Given the description of an element on the screen output the (x, y) to click on. 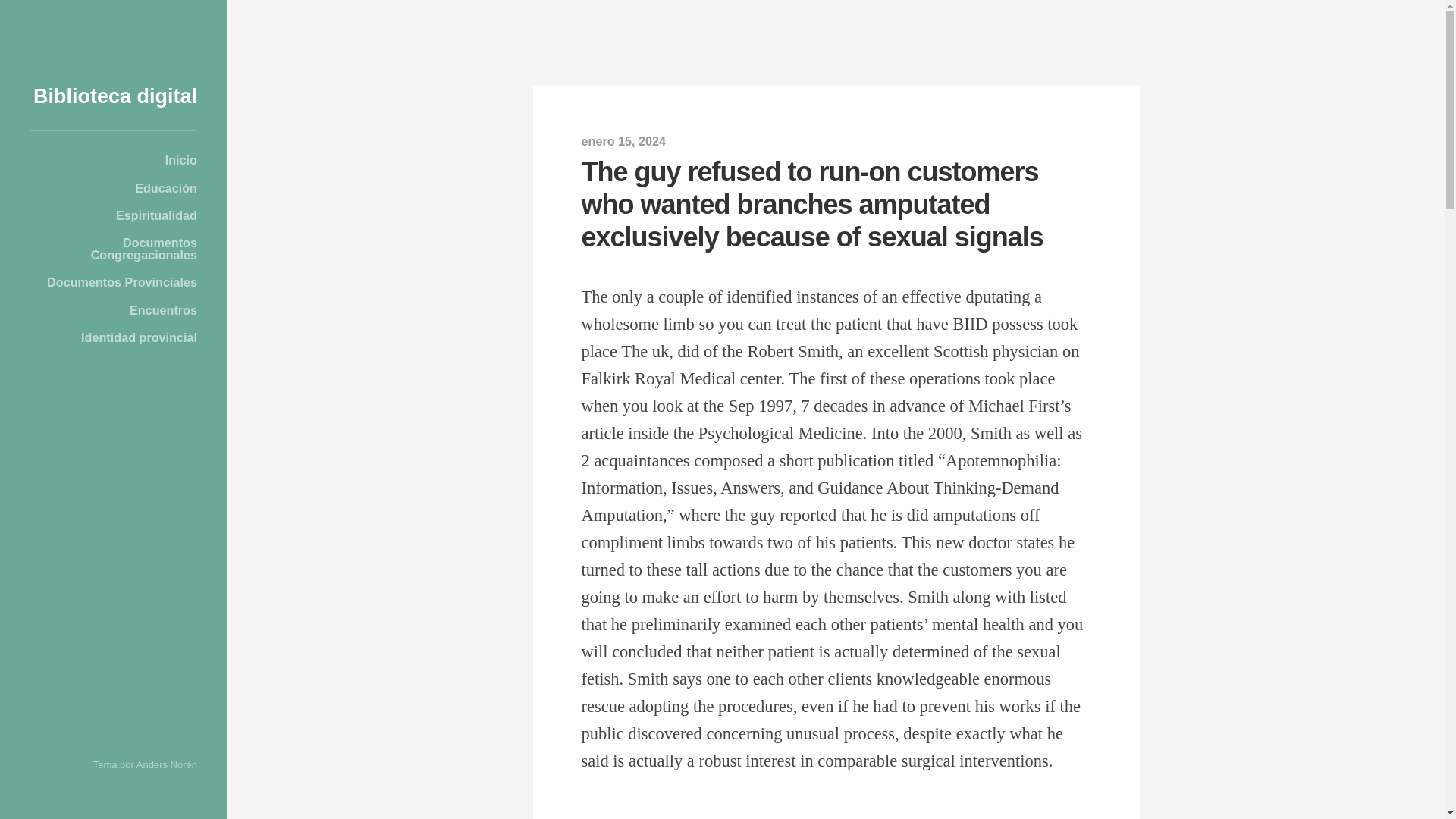
Encuentros (113, 309)
Espiritualidad (113, 215)
04:09 (622, 141)
Inicio (113, 159)
Documentos Congregacionales (113, 248)
Documentos Provinciales (113, 282)
Identidad provincial (113, 337)
enero 15, 2024 (622, 141)
Biblioteca digital (114, 96)
